Given the description of an element on the screen output the (x, y) to click on. 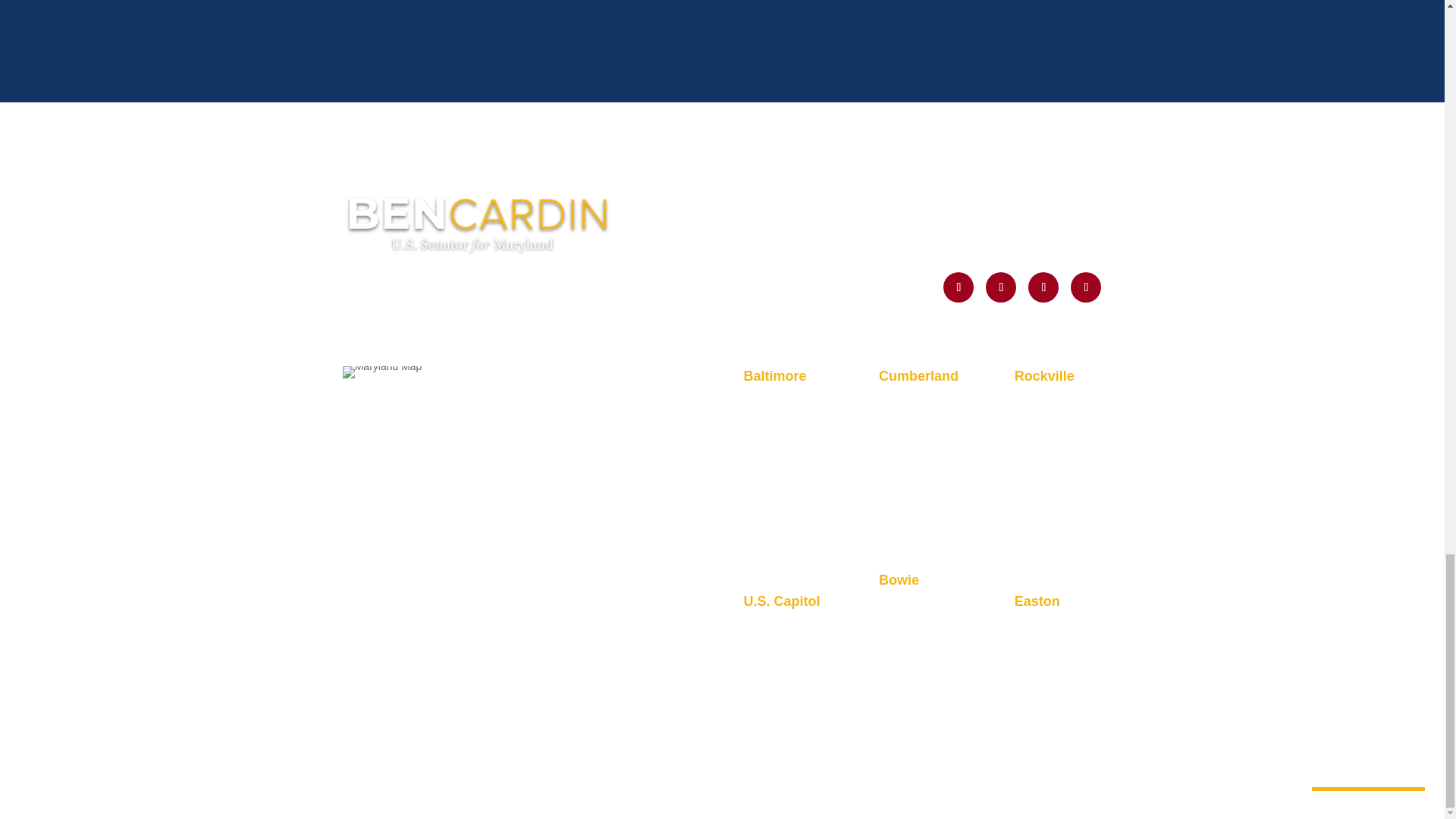
Follow on Instagram (1000, 286)
Follow on X (958, 286)
Footer (478, 223)
Follow on Facebook (1085, 286)
Follow on Youtube (1042, 286)
Privacy Policy (384, 408)
